Given the description of an element on the screen output the (x, y) to click on. 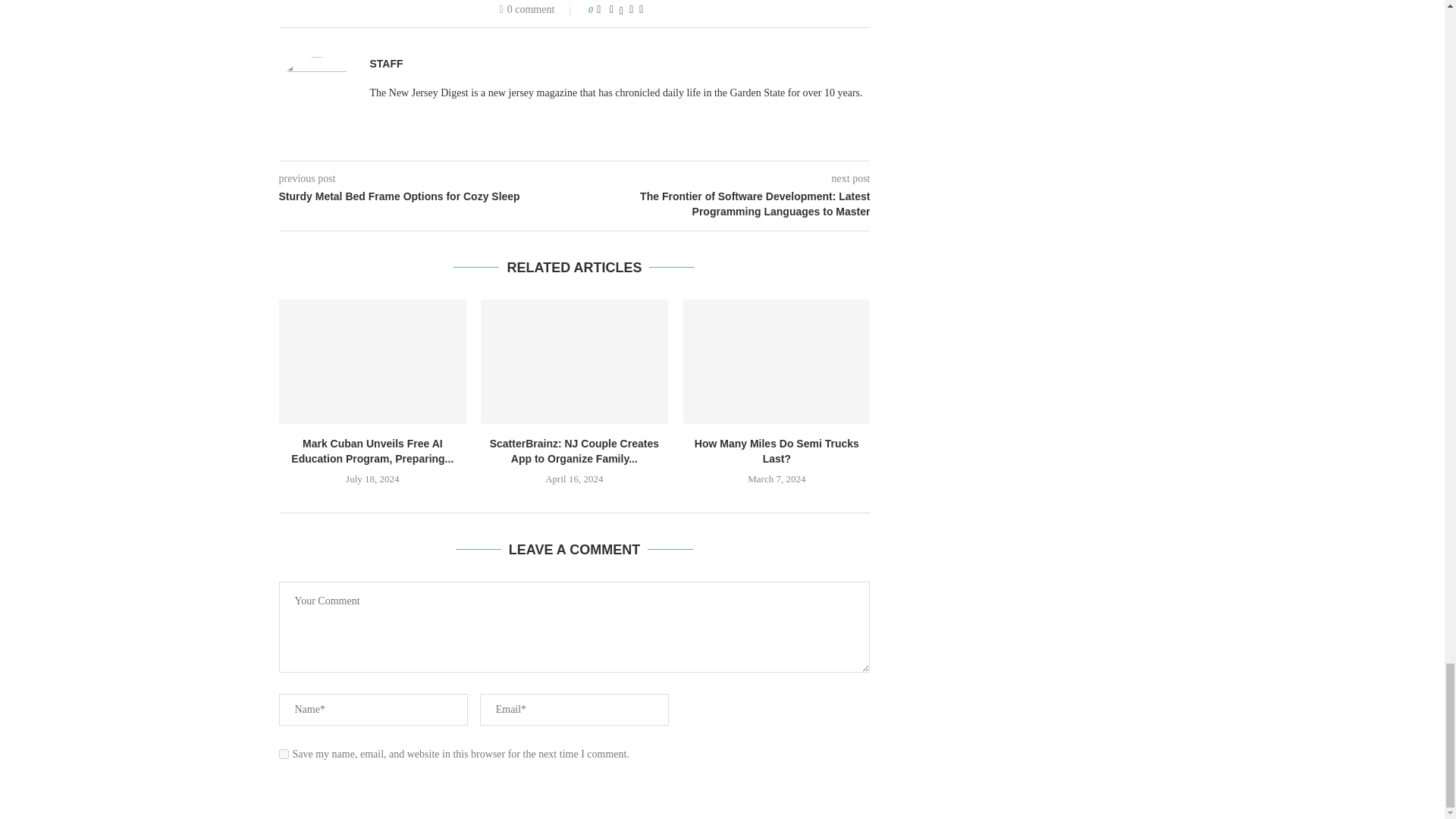
yes (283, 754)
How Many Miles Do Semi Trucks Last? (776, 361)
Author Staff (386, 63)
